Given the description of an element on the screen output the (x, y) to click on. 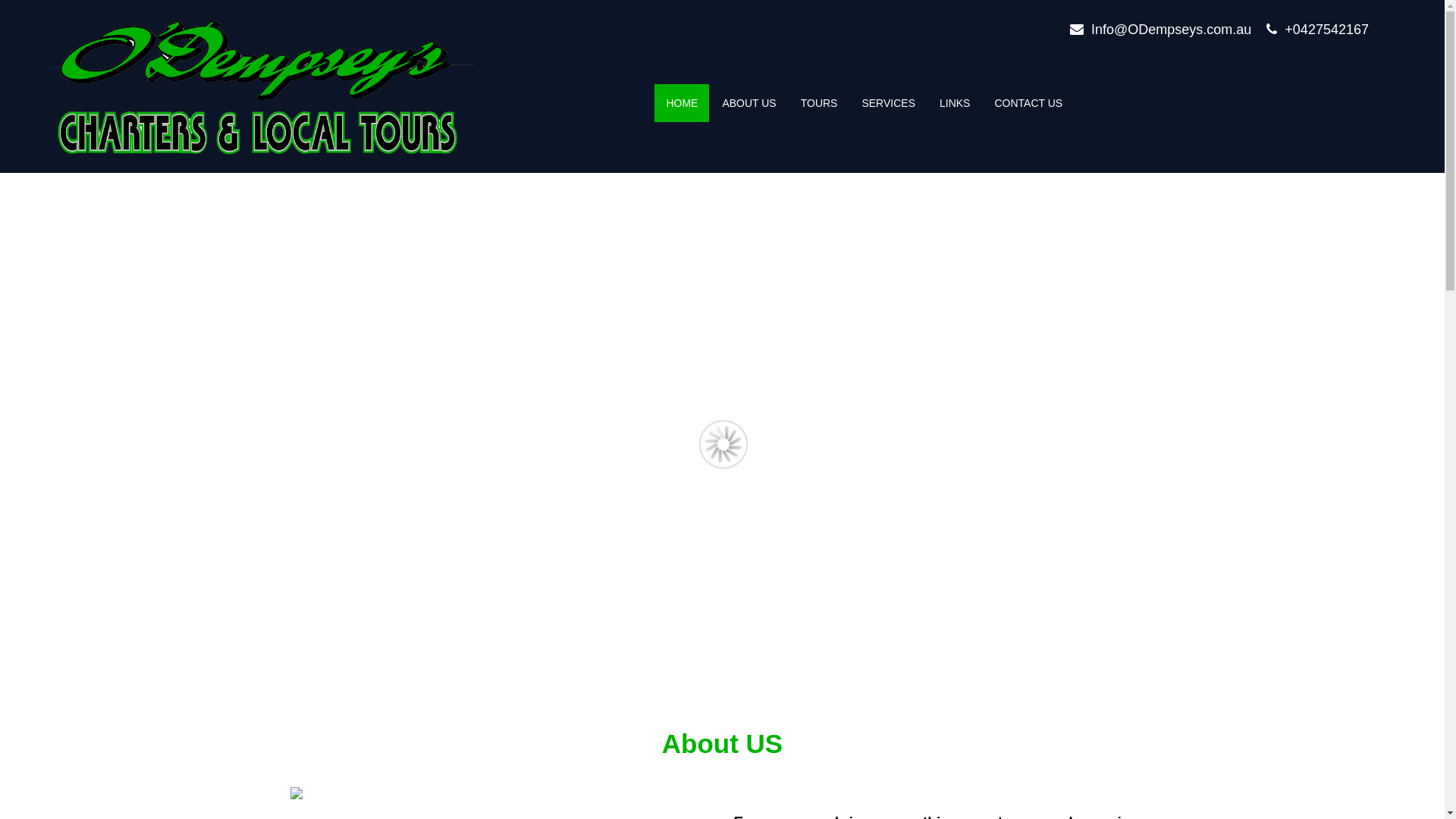
TOURS Element type: text (819, 103)
HOME Element type: text (681, 103)
ABOUT US Element type: text (748, 103)
+0427542167 Element type: text (1326, 29)
SERVICES Element type: text (888, 103)
O'Dempsey's Charters & Local Tours Element type: hover (258, 88)
CONTACT US Element type: text (1027, 103)
Info@ODempseys.com.au Element type: text (1171, 29)
LINKS Element type: text (954, 103)
